Given the description of an element on the screen output the (x, y) to click on. 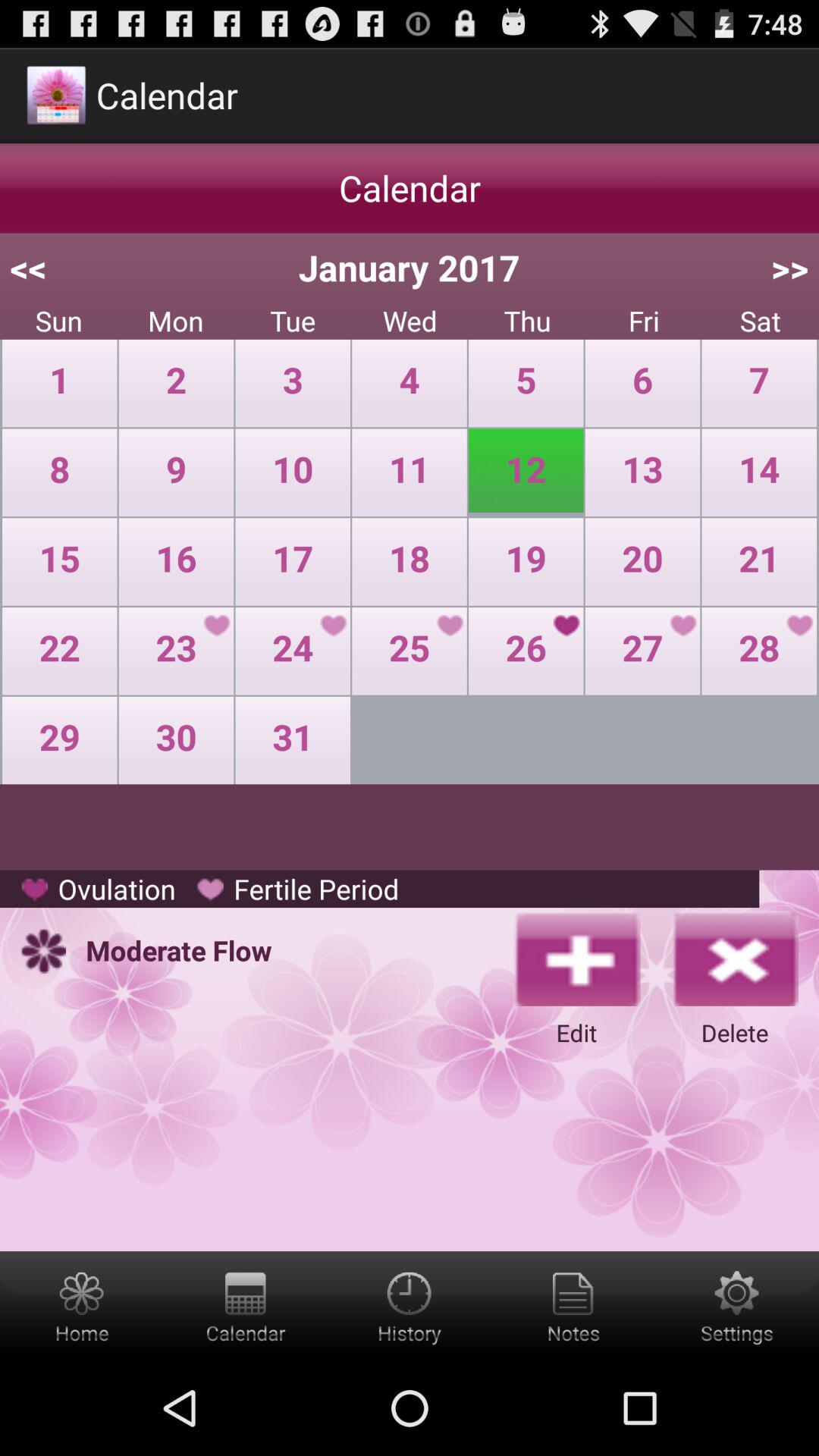
select the settings (737, 1305)
